Given the description of an element on the screen output the (x, y) to click on. 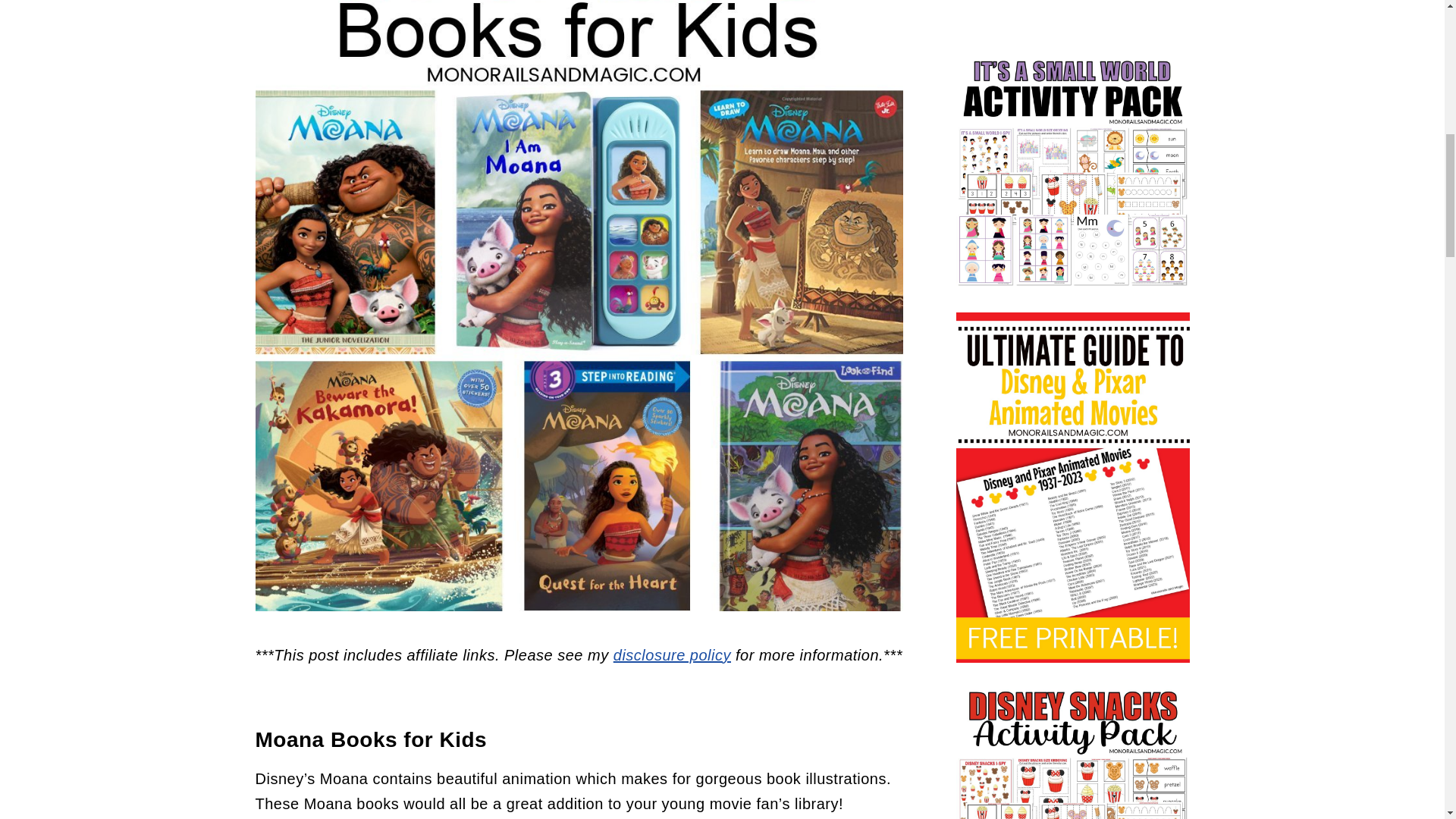
disclosure policy (671, 655)
Advertisement (1072, 16)
